Given the description of an element on the screen output the (x, y) to click on. 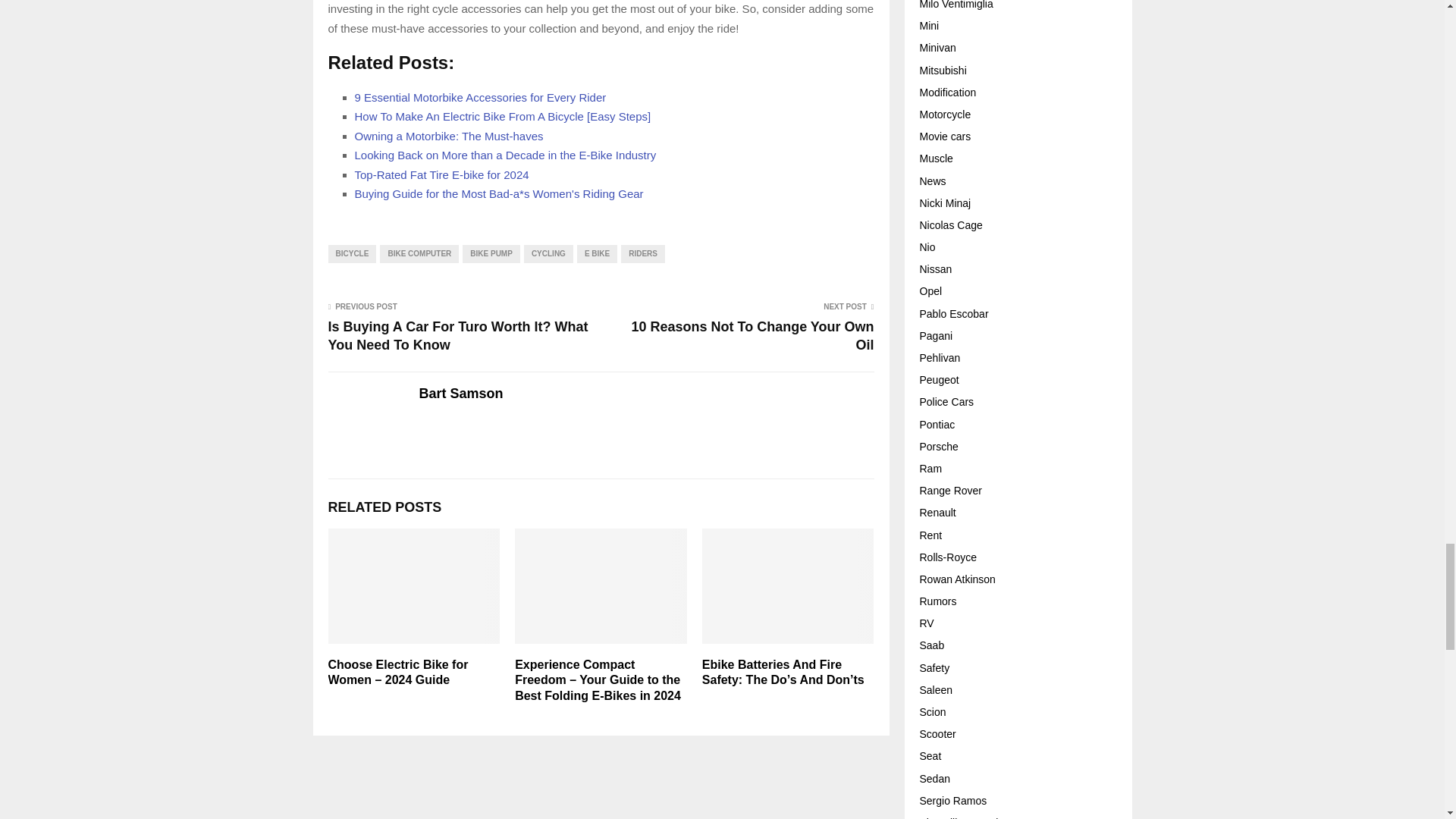
Is Buying A Car For Turo Worth It? What You Need To Know (457, 335)
BIKE COMPUTER (419, 253)
Looking Back on More than a Decade in the E-Bike Industry (505, 154)
Owning a Motorbike: The Must-haves (449, 135)
E BIKE (596, 253)
CYCLING (548, 253)
Top-Rated Fat Tire E-bike for 2024 (442, 174)
BICYCLE (351, 253)
10 Reasons Not To Change Your Own Oil (751, 335)
Bart Samson (460, 393)
BIKE PUMP (491, 253)
Posts by Bart Samson (460, 393)
9 Essential Motorbike Accessories for Every Rider (481, 97)
RIDERS (643, 253)
